Given the description of an element on the screen output the (x, y) to click on. 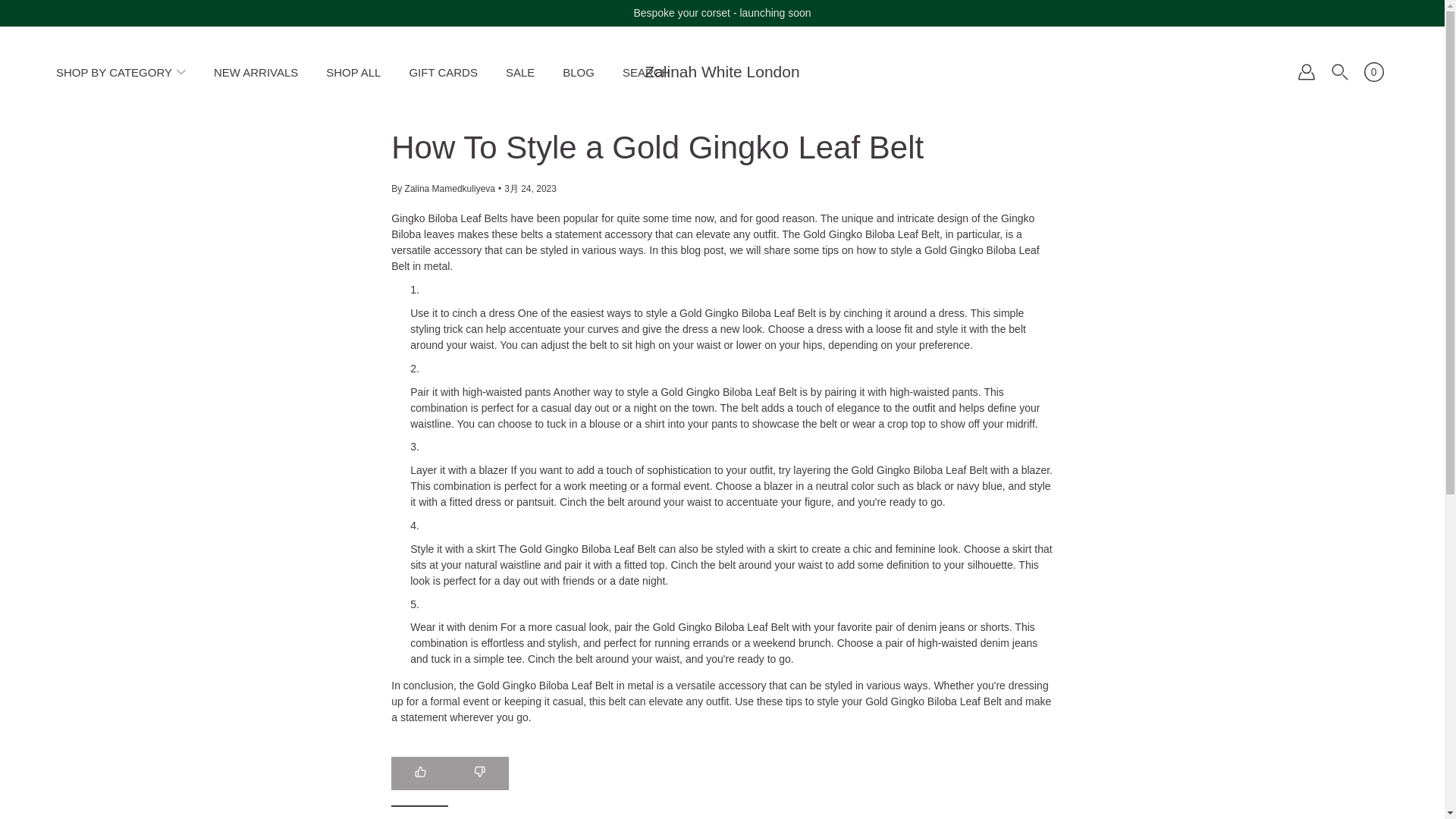
SEARCH (646, 71)
SALE (519, 71)
NEW ARRIVALS (256, 71)
BLOG (578, 71)
GIFT CARDS (443, 71)
SHOP ALL (353, 71)
Zalinah White London (722, 71)
SHOP BY CATEGORY (113, 71)
